Given the description of an element on the screen output the (x, y) to click on. 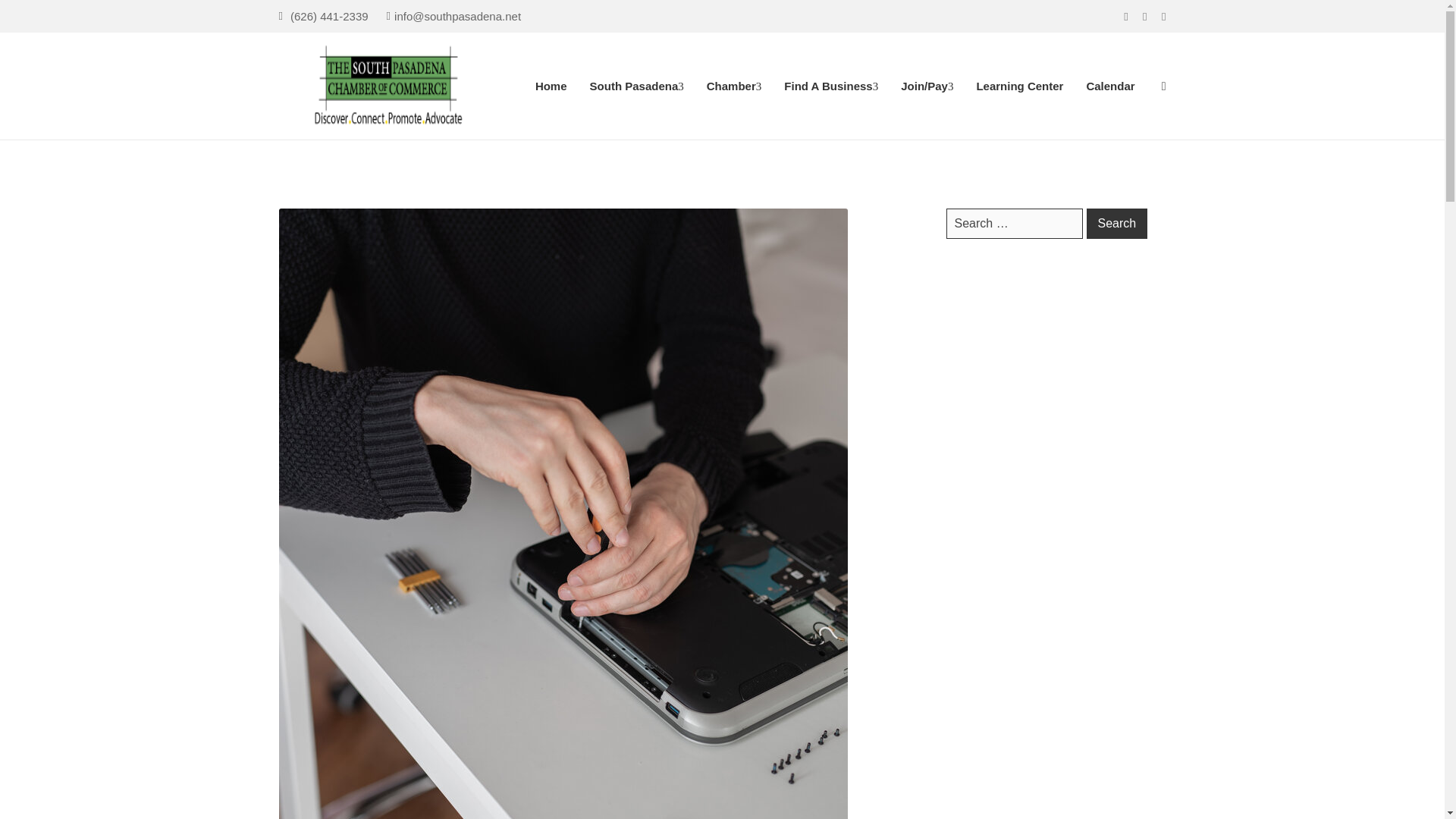
South Pasadena (636, 85)
South Pasadena (636, 85)
Search (1038, 409)
Search (1116, 223)
Learning Center (1018, 85)
Search (1116, 223)
Find A Business (830, 85)
Find a Business (830, 85)
Learning Center (1018, 85)
